Given the description of an element on the screen output the (x, y) to click on. 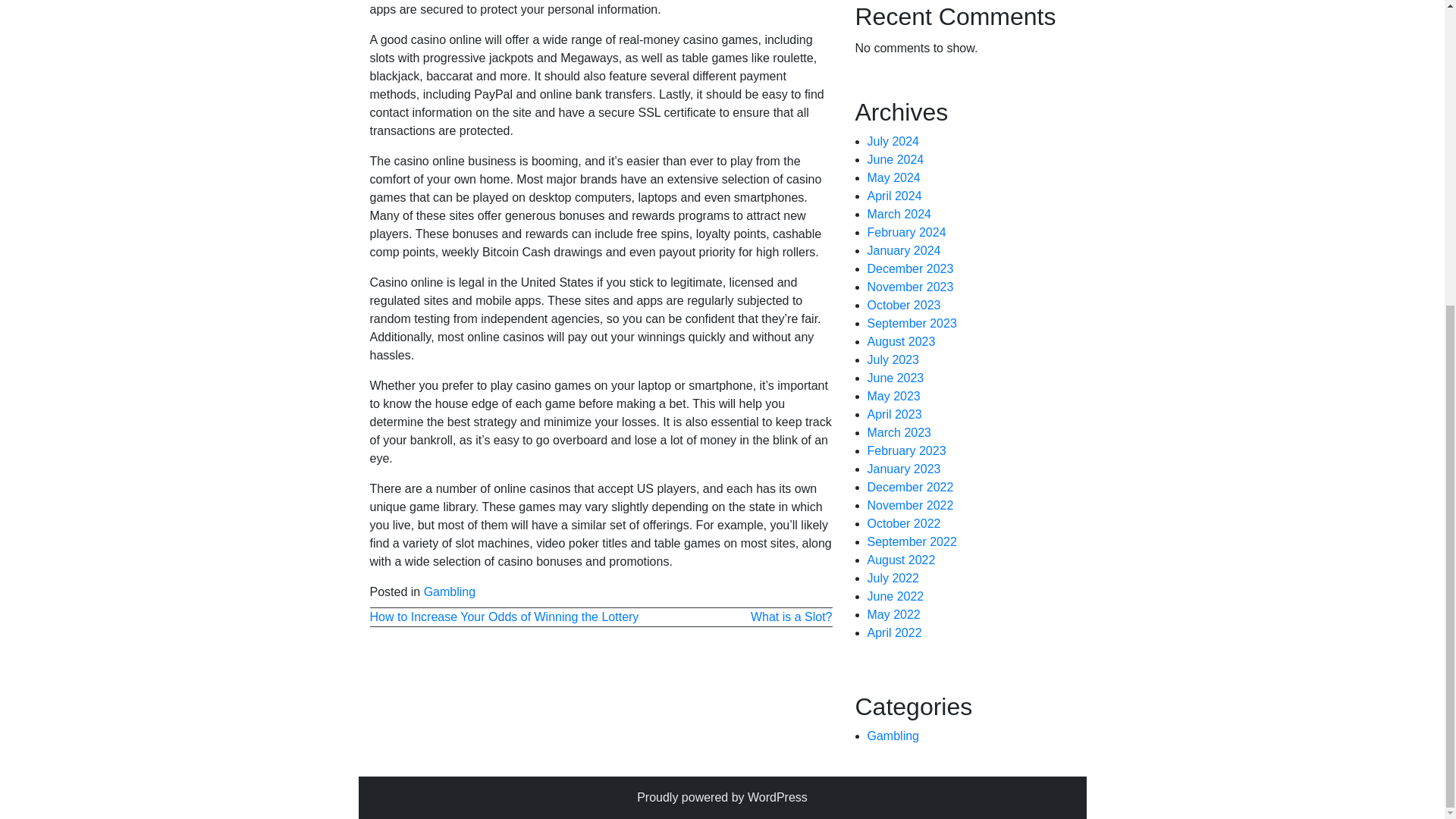
March 2024 (899, 214)
February 2023 (906, 450)
December 2023 (910, 268)
What is a Slot? (791, 616)
April 2023 (894, 413)
July 2024 (893, 141)
April 2024 (894, 195)
How to Increase Your Odds of Winning the Lottery (504, 616)
September 2022 (911, 541)
August 2022 (901, 559)
March 2023 (899, 431)
October 2023 (903, 305)
November 2023 (910, 286)
July 2023 (893, 359)
June 2023 (895, 377)
